Given the description of an element on the screen output the (x, y) to click on. 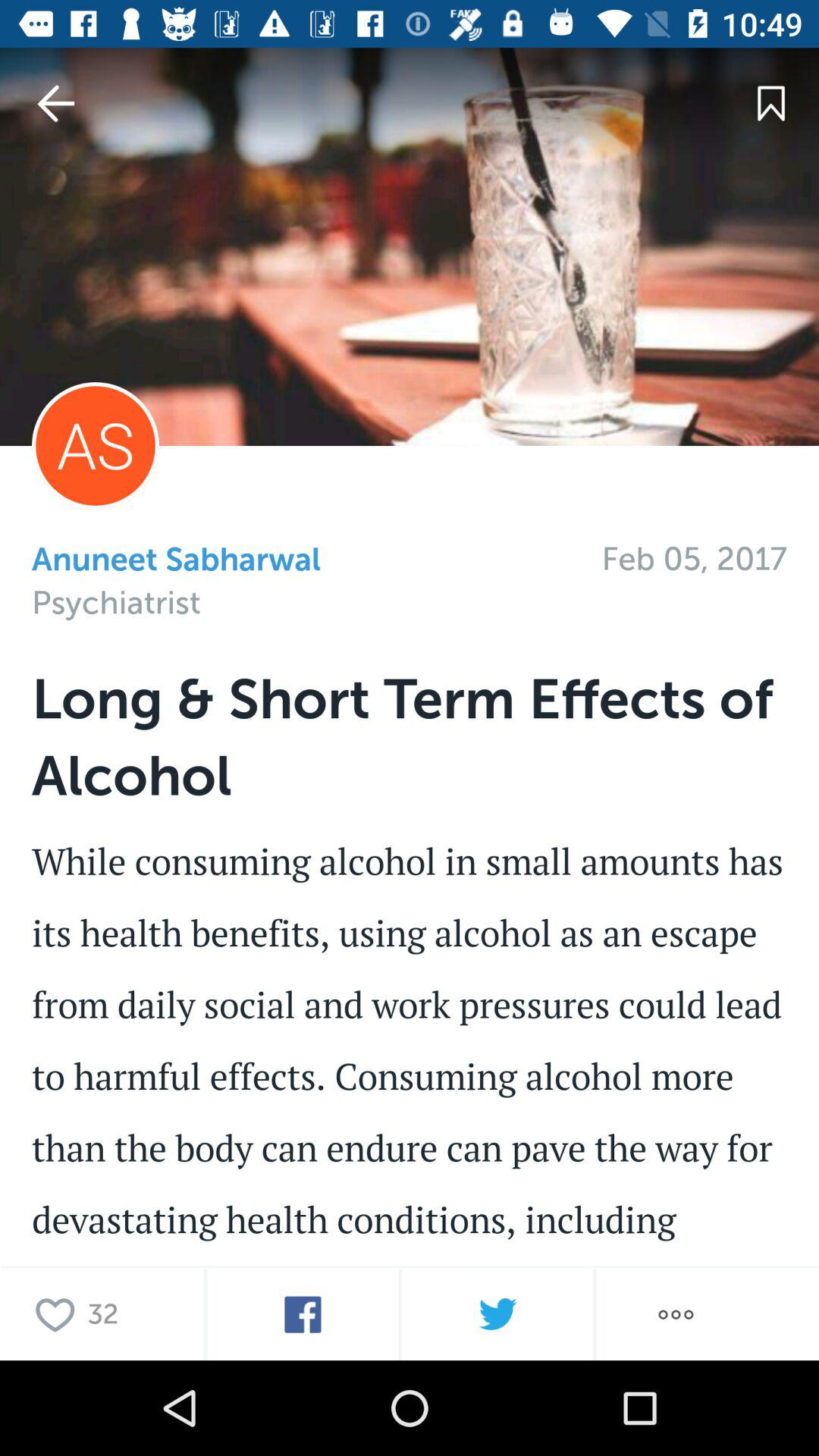
favorite it (59, 1314)
